Given the description of an element on the screen output the (x, y) to click on. 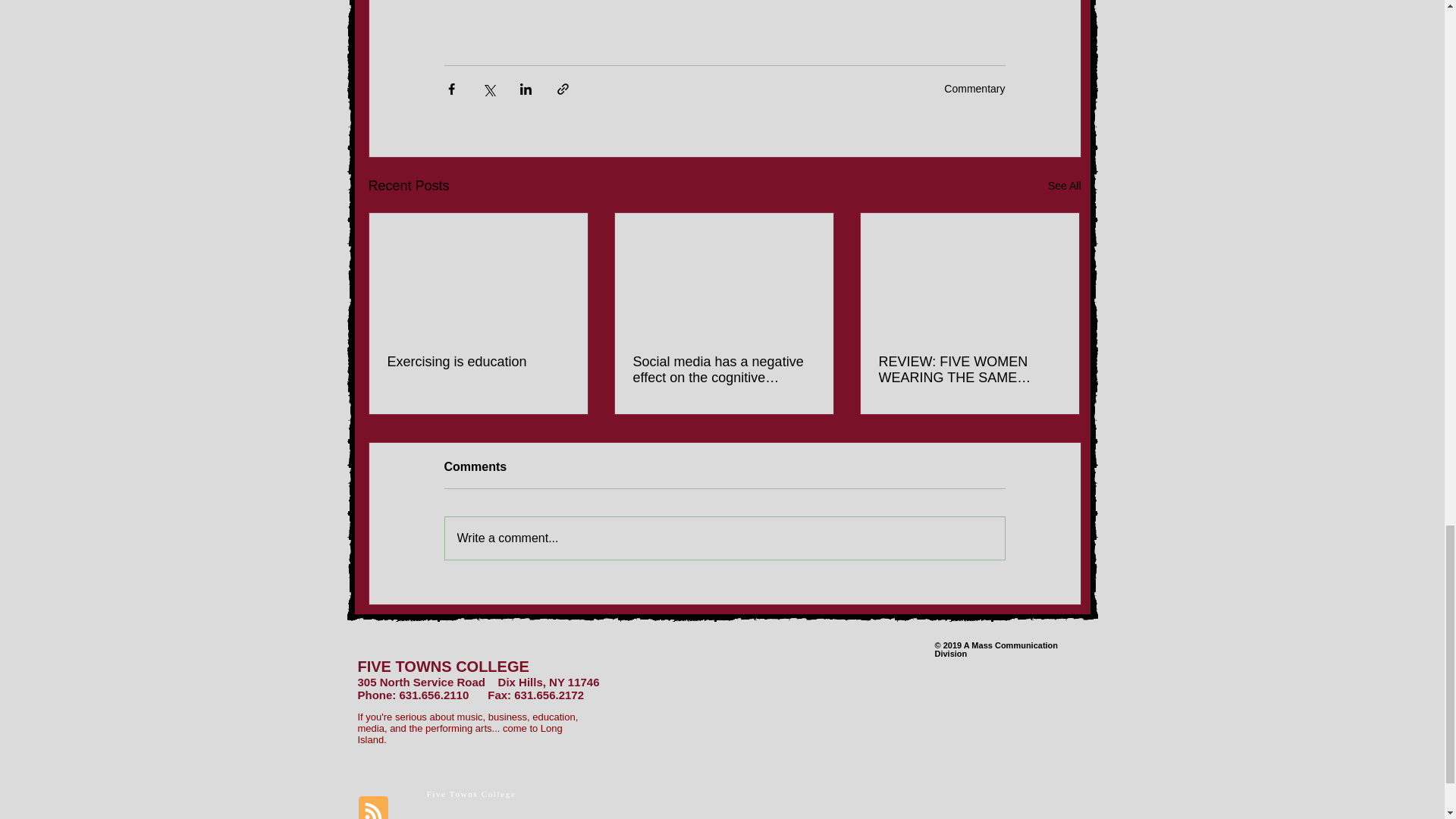
Write a comment... (724, 537)
Exercising is education (478, 361)
REVIEW: FIVE WOMEN WEARING THE SAME DRESS (968, 369)
See All (1064, 186)
Commentary (973, 88)
